Given the description of an element on the screen output the (x, y) to click on. 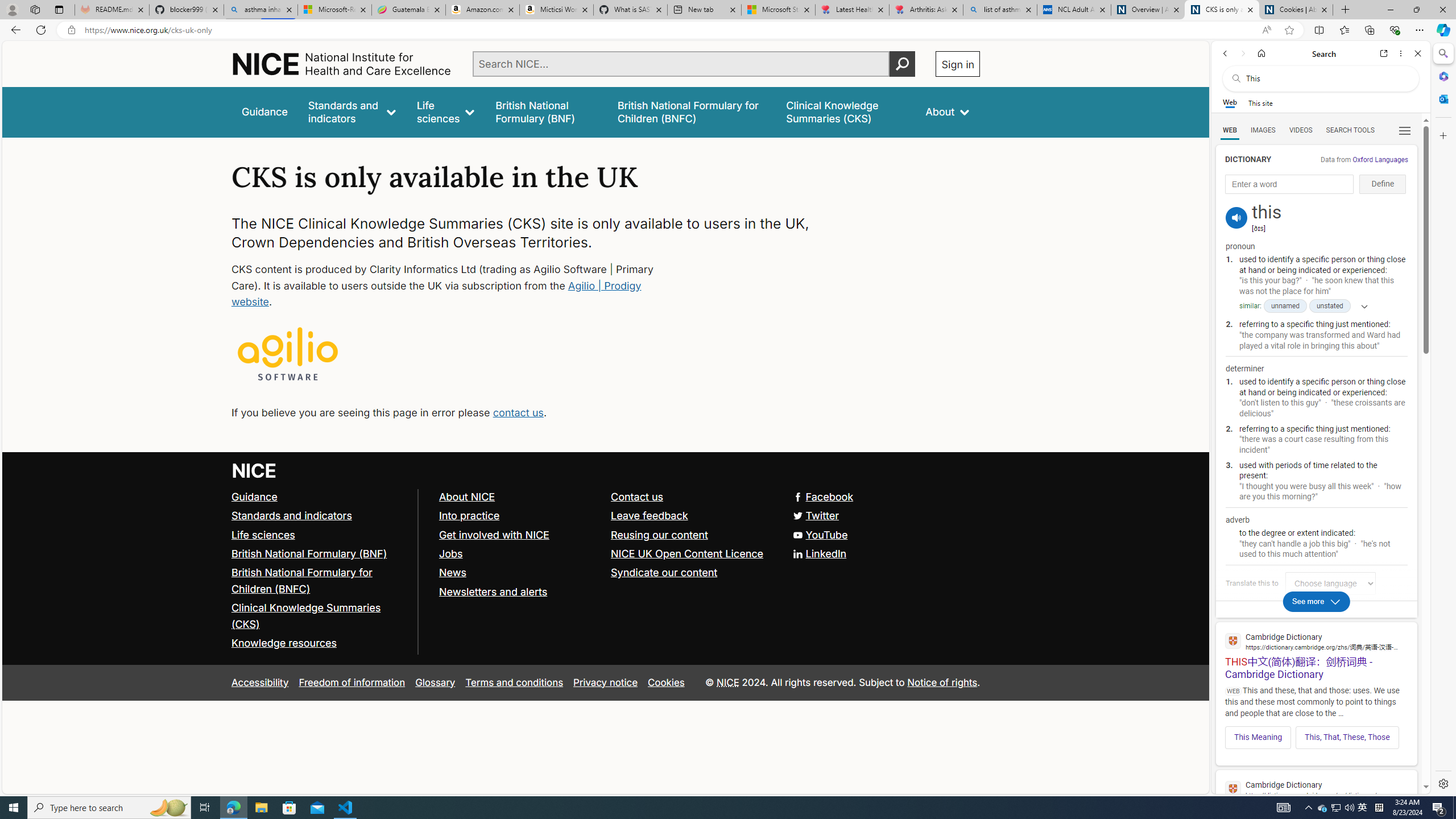
Syndicate our content (692, 572)
Contact us (692, 496)
About (947, 111)
Add this page to favorites (Ctrl+D) (1289, 29)
Knowledge resources (283, 643)
Preferences (1403, 129)
Leave feedback (649, 515)
About NICE (466, 496)
Terms and conditions (514, 682)
Tab actions menu (58, 9)
Glossary (434, 682)
Accessibility (259, 682)
